Given the description of an element on the screen output the (x, y) to click on. 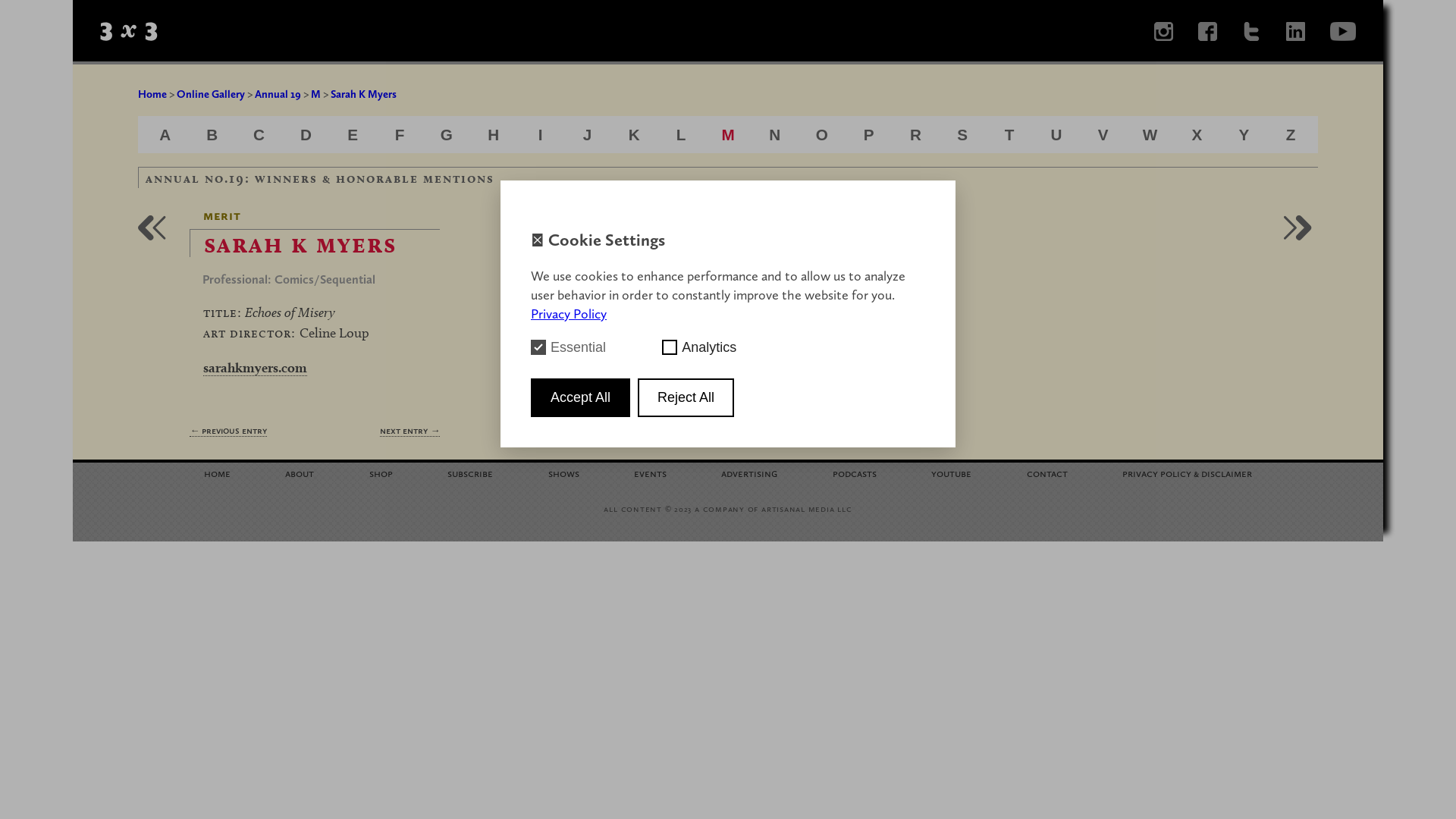
Accept All Element type: text (580, 397)
H Element type: text (492, 134)
B Element type: text (211, 134)
O Element type: text (821, 134)
P Element type: text (868, 134)
subscribe Element type: text (469, 473)
G Element type: text (446, 134)
contact Element type: text (1046, 473)
Online Gallery Element type: text (210, 93)
events Element type: text (649, 473)
Reject All Element type: text (685, 397)
N Element type: text (774, 134)
D Element type: text (305, 134)
privacy policy & disclaimer Element type: text (1187, 473)
K Element type: text (634, 134)
C Element type: text (258, 134)
sarahkmyers.com Element type: text (255, 367)
Z Element type: text (1290, 134)
advertising Element type: text (749, 473)
podcasts Element type: text (854, 473)
about Element type: text (299, 473)
V Element type: text (1103, 134)
T Element type: text (1009, 134)
J Element type: text (587, 134)
youtube Element type: text (951, 473)
S Element type: text (962, 134)
Privacy Policy Element type: text (568, 313)
A Element type: text (164, 134)
M Element type: text (315, 93)
Home Element type: text (152, 93)
F Element type: text (399, 134)
Sarah K Myers Element type: text (363, 93)
Annual 19 Element type: text (277, 93)
R Element type: text (915, 134)
shows Element type: text (563, 473)
Y Element type: text (1243, 134)
W Element type: text (1149, 134)
U Element type: text (1055, 134)
home Element type: text (216, 473)
X Element type: text (1197, 134)
E Element type: text (352, 134)
L Element type: text (681, 134)
shop Element type: text (380, 473)
I Element type: text (540, 134)
M Element type: text (727, 134)
